Given the description of an element on the screen output the (x, y) to click on. 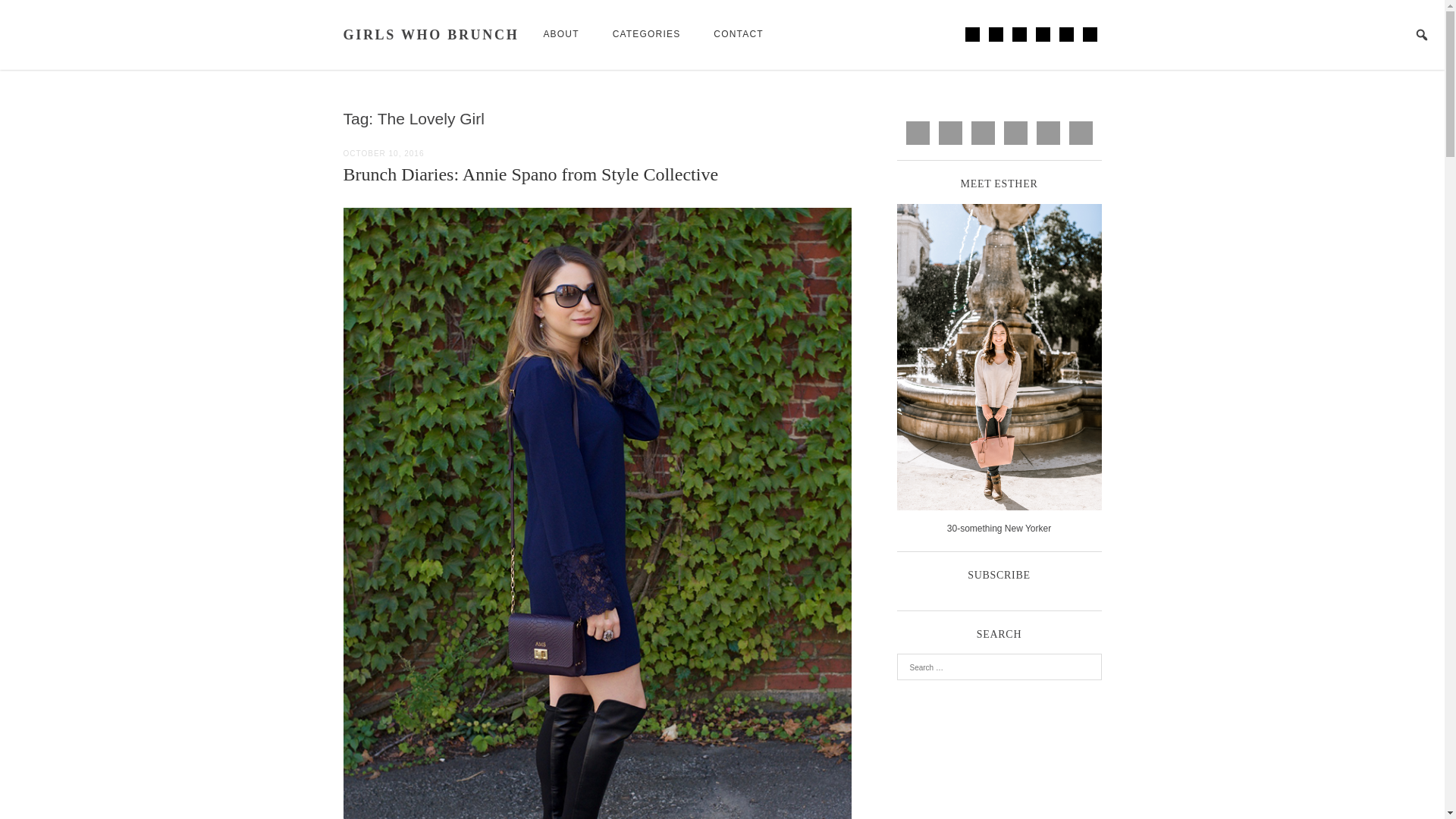
CONTACT (738, 34)
OCTOBER 10, 2016 (382, 153)
Brunch Diaries: Annie Spano from Style Collective (529, 174)
CATEGORIES (645, 34)
ABOUT (560, 34)
GIRLS WHO BRUNCH (430, 34)
